Given the description of an element on the screen output the (x, y) to click on. 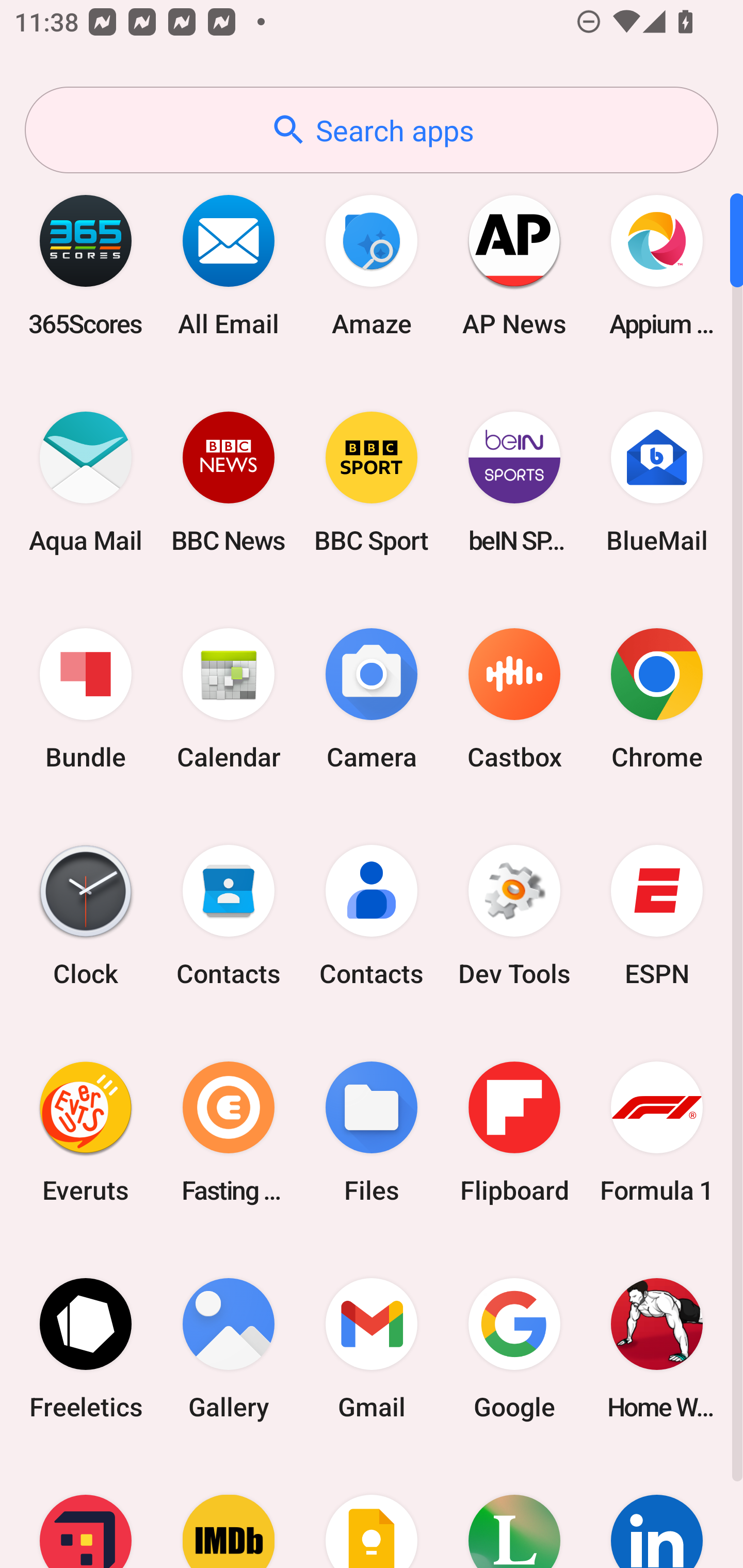
  Search apps (371, 130)
365Scores (85, 264)
All Email (228, 264)
Amaze (371, 264)
AP News (514, 264)
Appium Settings (656, 264)
Aqua Mail (85, 482)
BBC News (228, 482)
BBC Sport (371, 482)
beIN SPORTS (514, 482)
BlueMail (656, 482)
Bundle (85, 699)
Calendar (228, 699)
Camera (371, 699)
Castbox (514, 699)
Chrome (656, 699)
Clock (85, 915)
Contacts (228, 915)
Contacts (371, 915)
Dev Tools (514, 915)
ESPN (656, 915)
Everuts (85, 1131)
Fasting Coach (228, 1131)
Files (371, 1131)
Flipboard (514, 1131)
Formula 1 (656, 1131)
Freeletics (85, 1348)
Gallery (228, 1348)
Gmail (371, 1348)
Google (514, 1348)
Home Workout (656, 1348)
Hotels.com (85, 1512)
IMDb (228, 1512)
Keep Notes (371, 1512)
Lifesum (514, 1512)
LinkedIn (656, 1512)
